Given the description of an element on the screen output the (x, y) to click on. 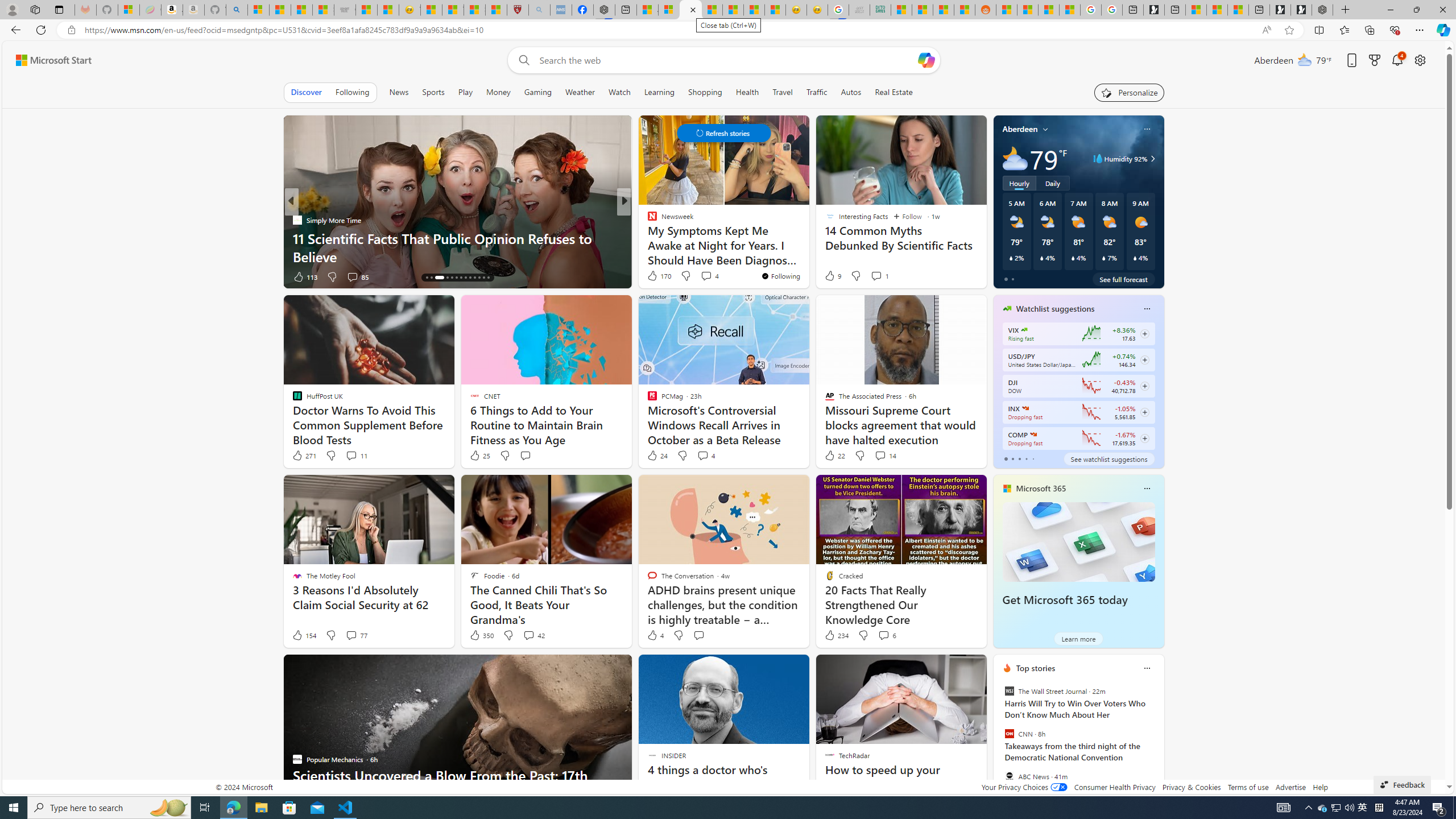
Terms of use (1247, 786)
Autos (851, 92)
24 Like (657, 455)
tab-1 (1012, 458)
121 Like (654, 276)
Class: follow-button  m (1144, 438)
Help (1320, 786)
Money (497, 92)
View comments 4 Comment (705, 455)
